Given the description of an element on the screen output the (x, y) to click on. 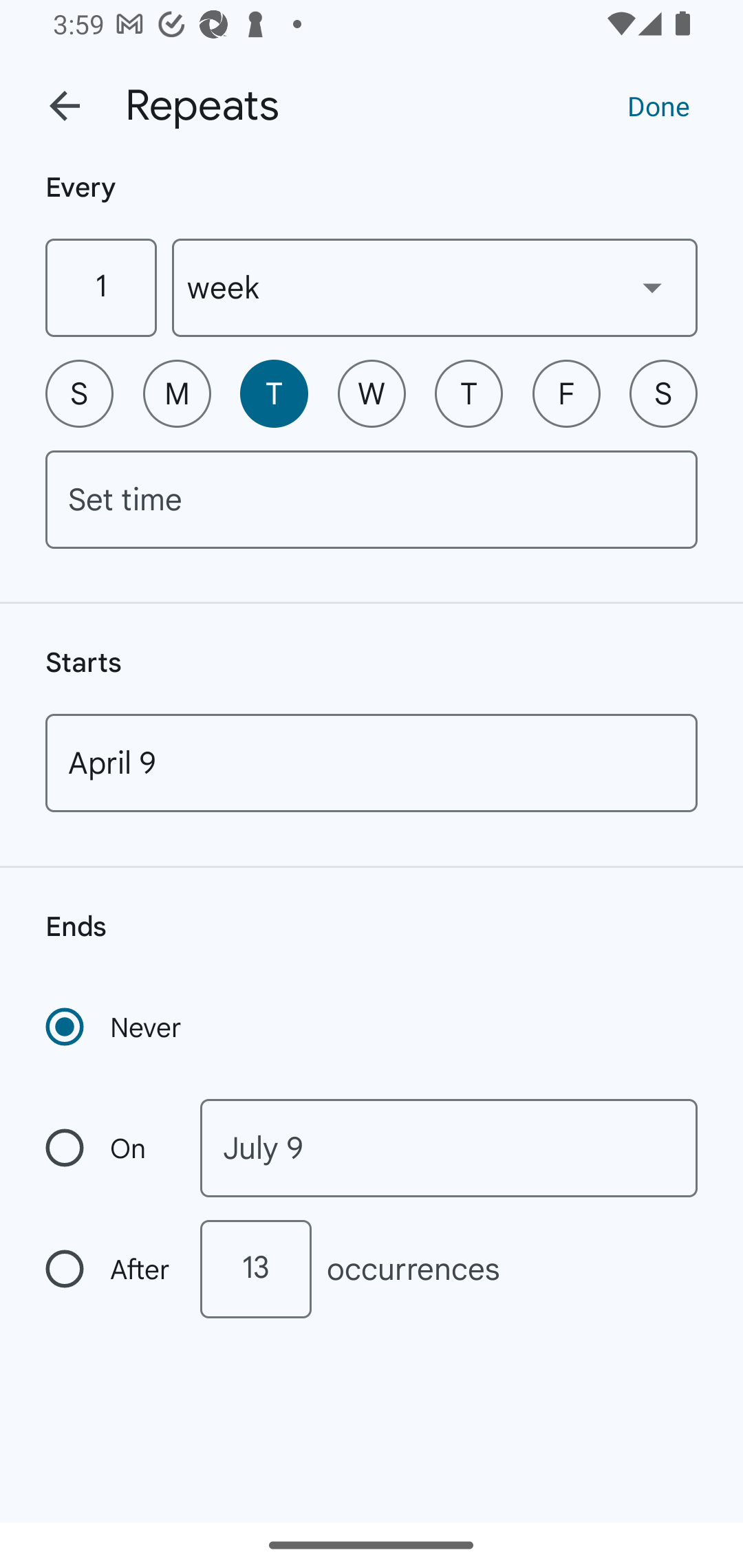
Back (64, 105)
Done (658, 105)
1 (100, 287)
week (434, 287)
Show dropdown menu (652, 286)
S Sunday (79, 393)
M Monday (177, 393)
T Tuesday, selected (273, 393)
W Wednesday (371, 393)
T Thursday (468, 393)
F Friday (566, 393)
S Saturday (663, 393)
Set time (371, 499)
April 9 (371, 762)
Never Recurrence never ends (115, 1026)
July 9 (448, 1148)
On Recurrence ends on a specific date (109, 1148)
13 (255, 1268)
